Given the description of an element on the screen output the (x, y) to click on. 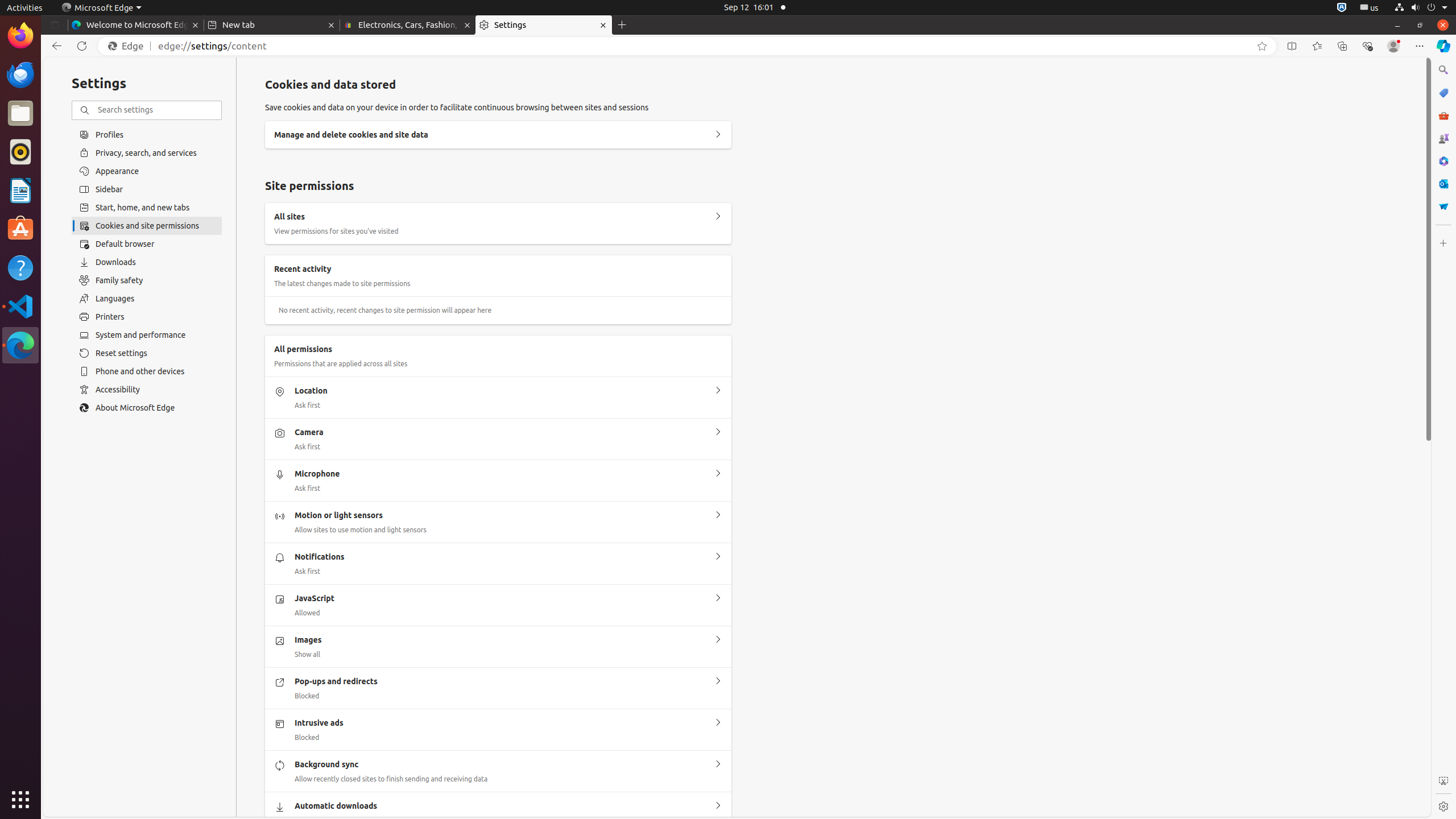
Phone and other devices Element type: tree-item (146, 371)
Motion or light sensors Element type: push-button (717, 515)
Drop Element type: push-button (1443, 206)
Microphone Element type: push-button (717, 473)
Settings and more (Alt+F) Element type: push-button (1419, 45)
